Given the description of an element on the screen output the (x, y) to click on. 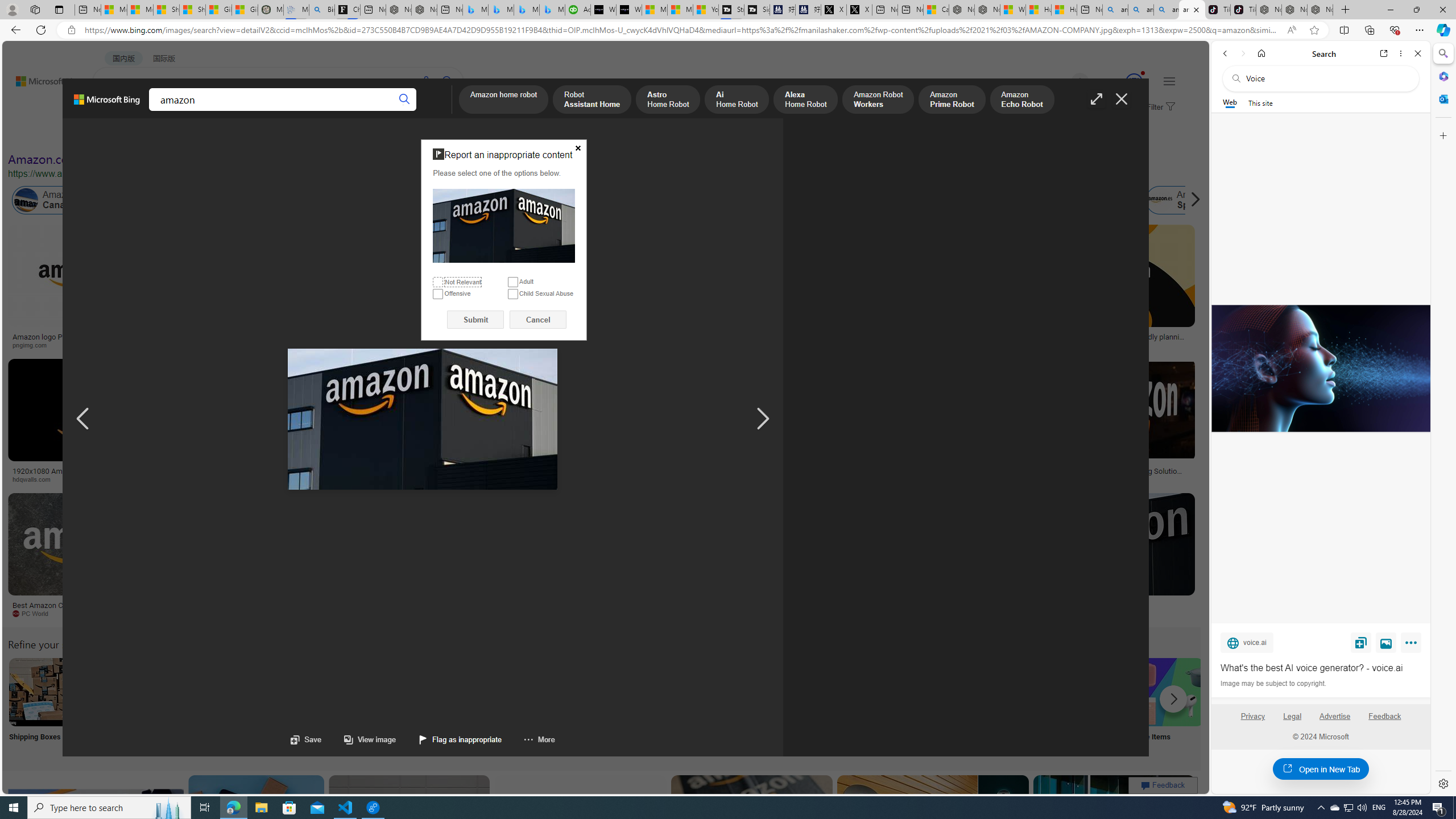
DICT (357, 111)
View image (1385, 642)
Image may be subject to copyright. (1273, 682)
Amazon Sale Items Sale Items (1169, 706)
Amazon Online Store (644, 691)
Dropdown Menu (443, 111)
protothema.gr (1043, 612)
Amazon Spain (1159, 200)
Amazon Wish List Wish List (568, 706)
Amazon home robot (503, 100)
